Given the description of an element on the screen output the (x, y) to click on. 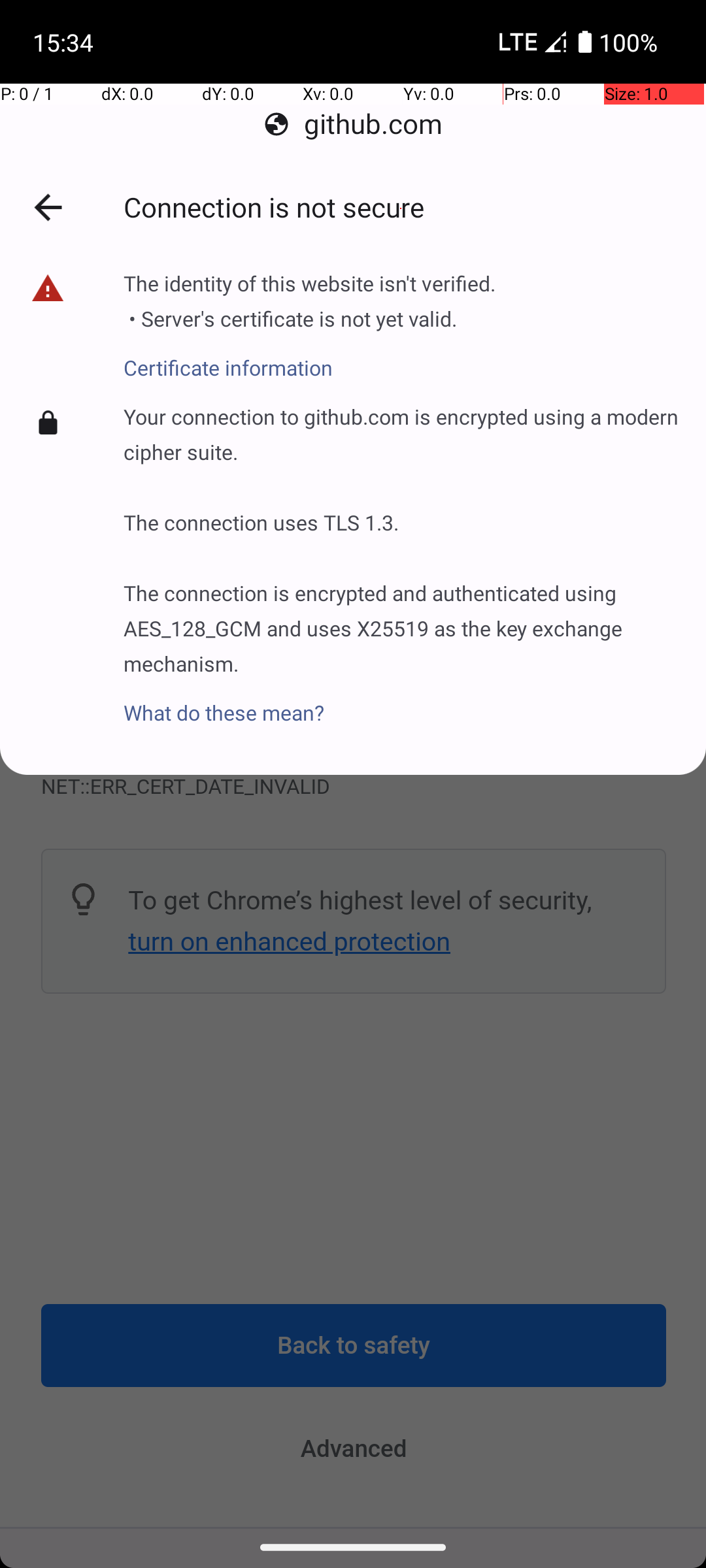
The identity of this website isn't verified.
 • Server's certificate is not yet valid. Element type: android.widget.TextView (309, 301)
Certificate information Element type: android.widget.TextView (309, 357)
Your connection to github.com is encrypted using a modern cipher suite.

The connection uses TLS 1.3.

The connection is encrypted and authenticated using AES_128_GCM and uses X25519 as the key exchange mechanism. Element type: android.widget.TextView (400, 539)
What do these mean? Element type: android.widget.TextView (400, 700)
github.com Element type: android.widget.TextView (352, 124)
